Given the description of an element on the screen output the (x, y) to click on. 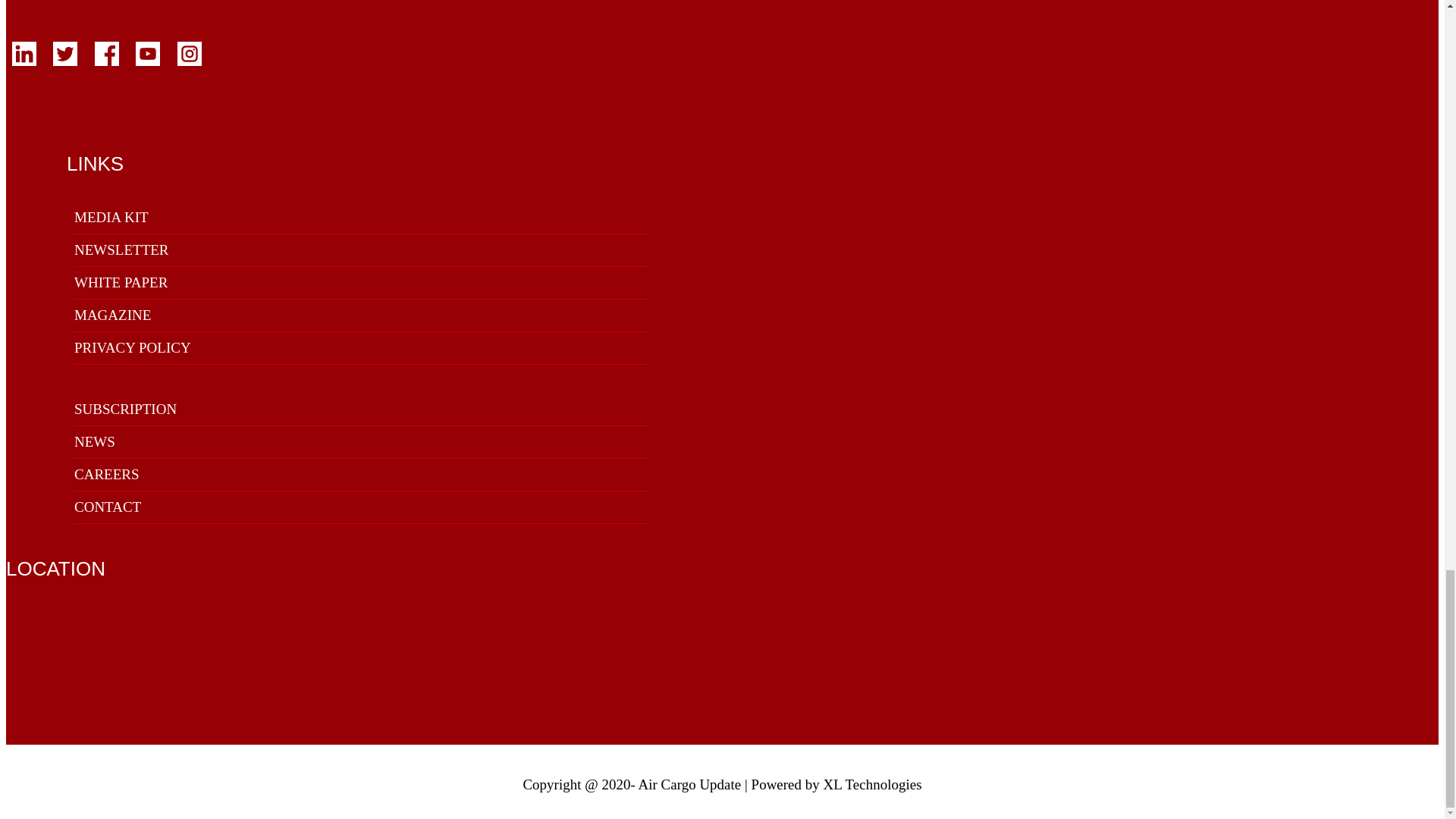
NEWS (94, 441)
WHITE PAPER (120, 282)
MEDIA KIT (111, 217)
XL Technologies (872, 784)
CAREERS (106, 474)
SUBSCRIPTION (125, 408)
NEWSLETTER (121, 249)
CONTACT (107, 506)
PRIVACY POLICY (132, 347)
MAGAZINE (112, 314)
